Given the description of an element on the screen output the (x, y) to click on. 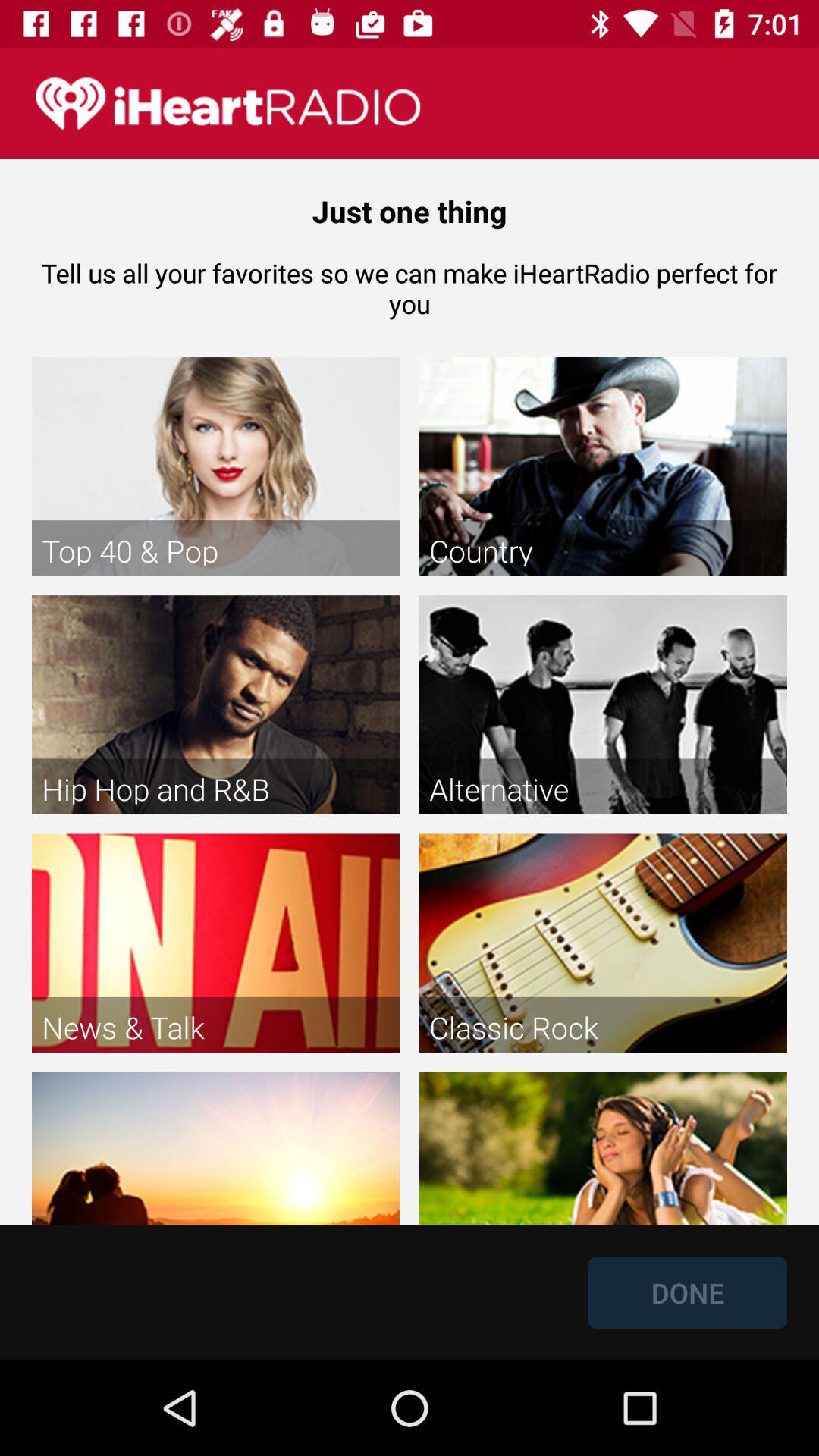
launch the done icon (687, 1292)
